Given the description of an element on the screen output the (x, y) to click on. 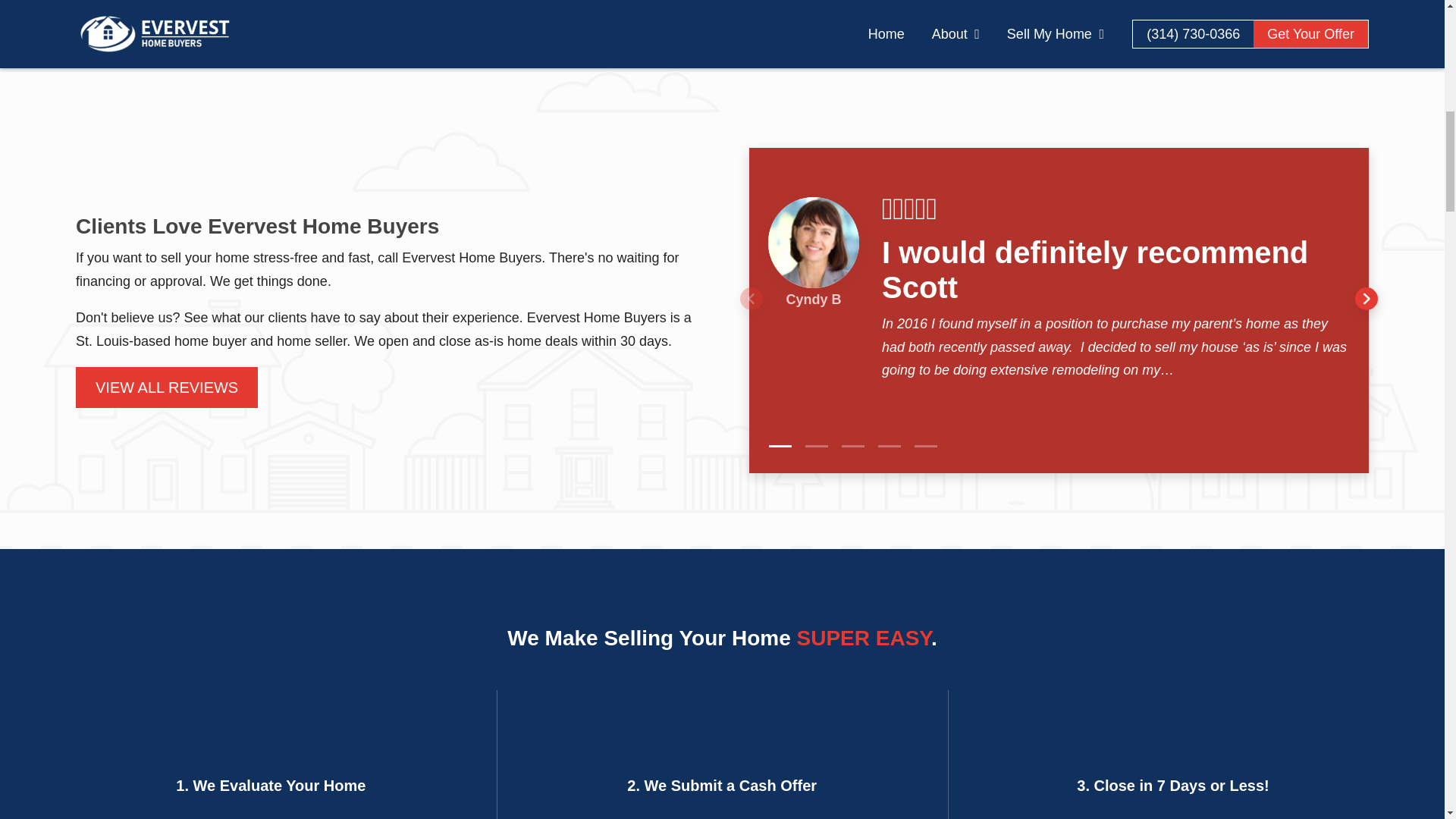
VIEW ALL REVIEWS (166, 386)
VIEW ALL ANSWERS (1080, 29)
